Given the description of an element on the screen output the (x, y) to click on. 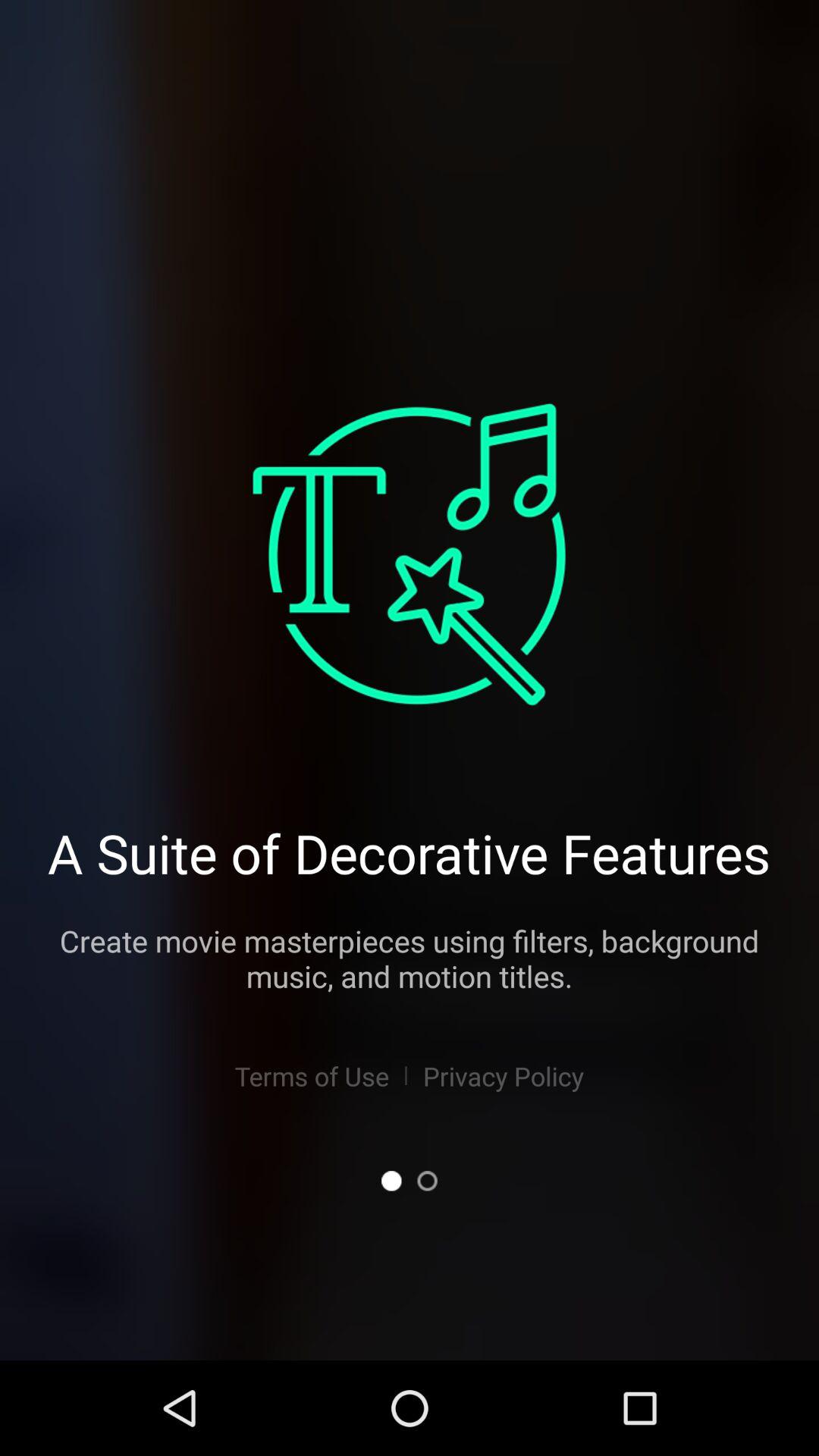
click the terms of use item (311, 1075)
